Given the description of an element on the screen output the (x, y) to click on. 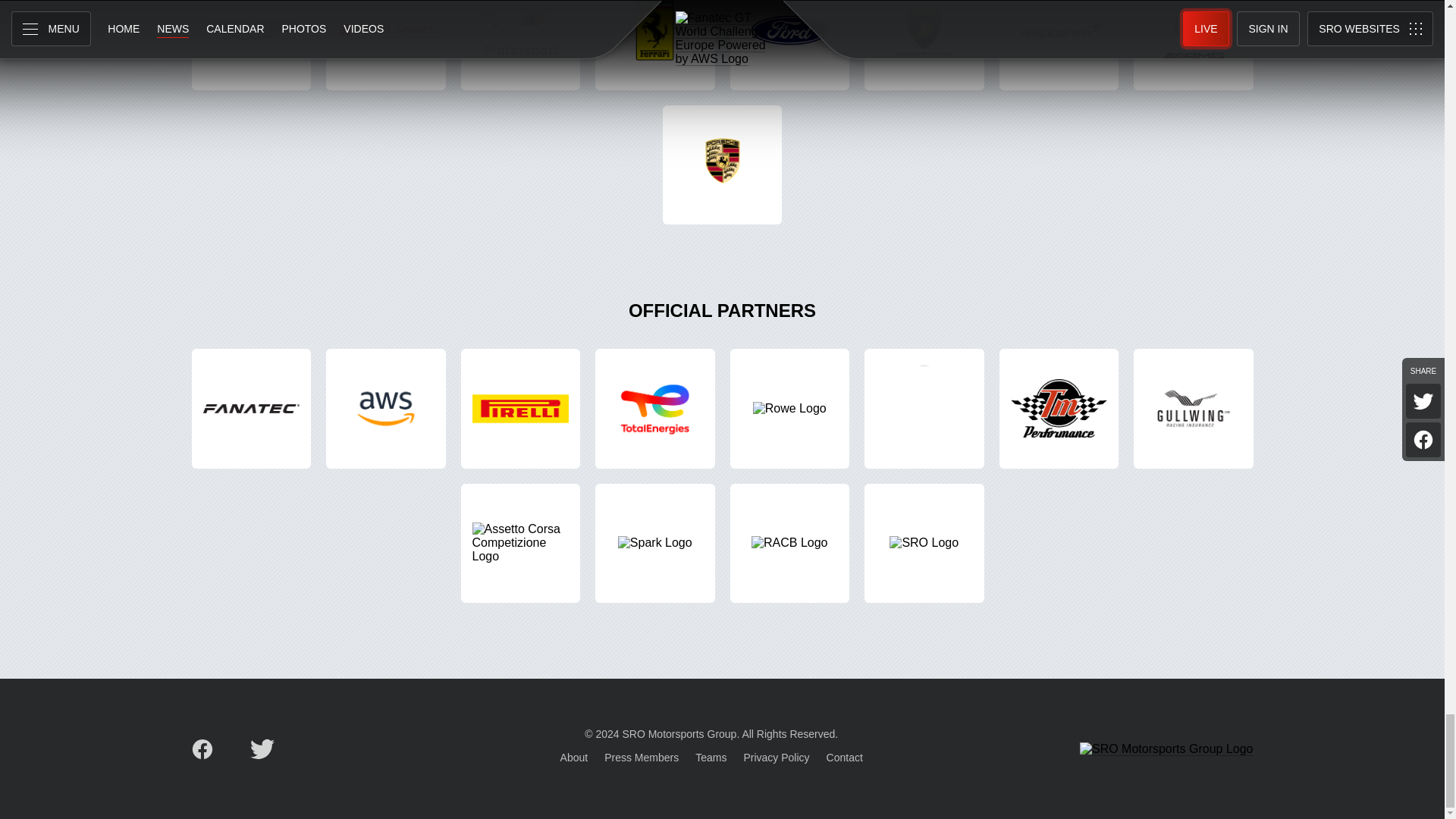
BMW (520, 45)
Mercedes-AMG (1193, 45)
Assetto Corsa Competizione (520, 543)
McLaren (1058, 45)
Ferrari (654, 45)
Spark (654, 543)
Gullwing (1193, 408)
Automobili Lamborghini  (924, 408)
Pirelli (520, 408)
Fanatec (250, 408)
